Given the description of an element on the screen output the (x, y) to click on. 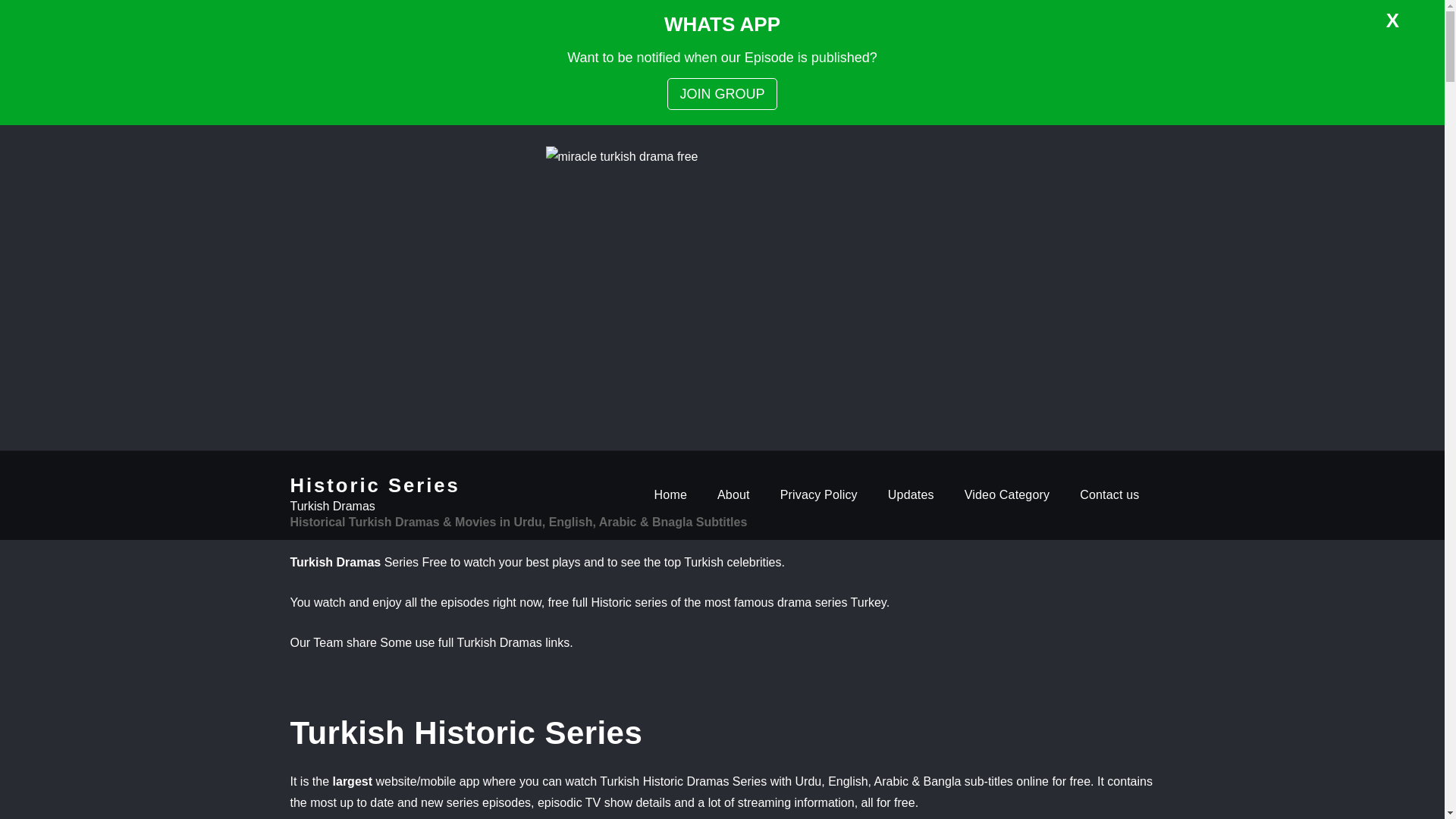
About (733, 494)
Contact us (1109, 494)
JOIN GROUP (721, 93)
X (1392, 20)
Historic Series (374, 485)
Home (670, 494)
Video Category (1007, 494)
Updates (910, 494)
Privacy Policy (818, 494)
